Given the description of an element on the screen output the (x, y) to click on. 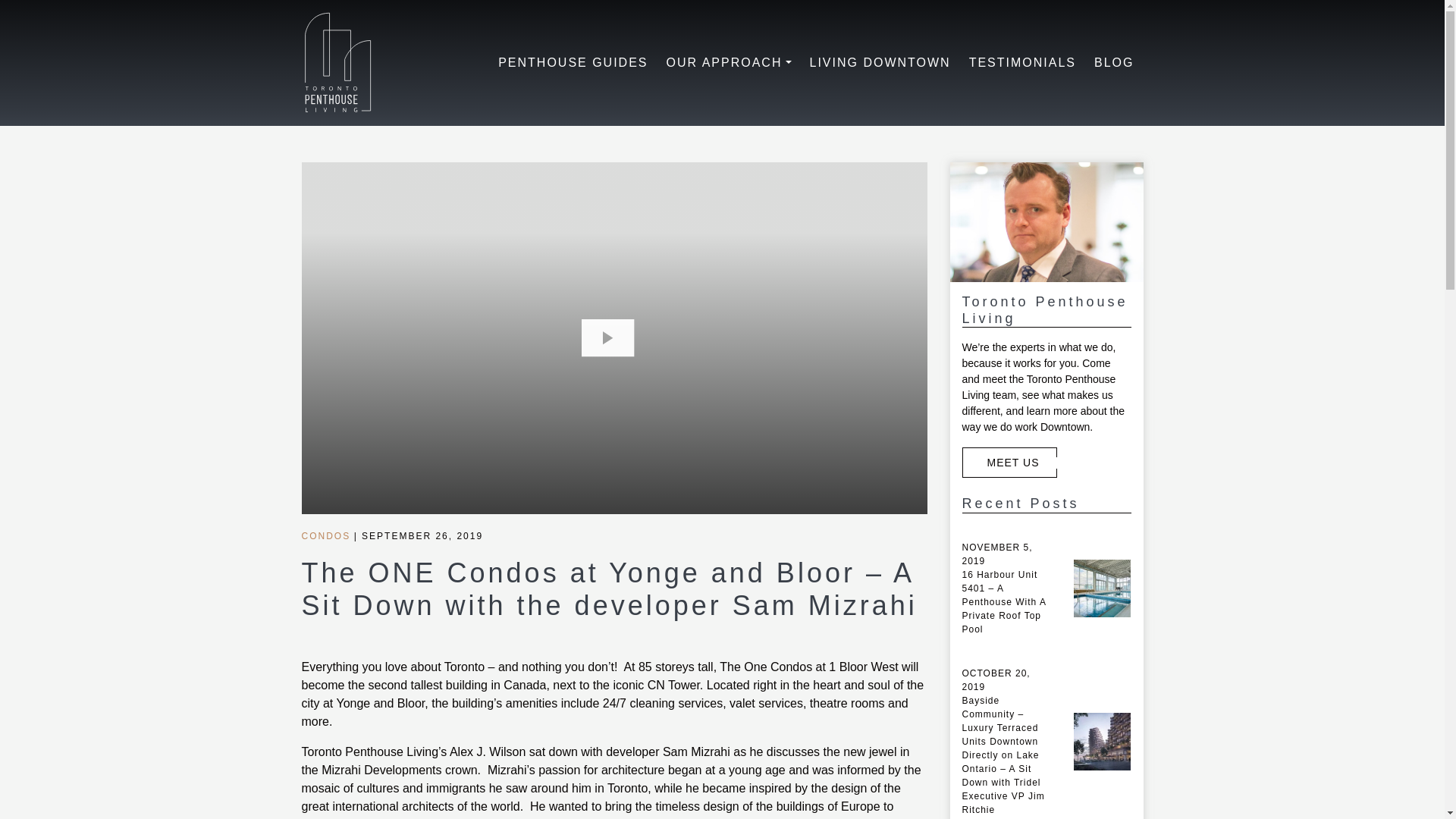
LIVING DOWNTOWN (879, 62)
Living Downtown (879, 62)
BLOG (1113, 62)
TESTIMONIALS (1021, 62)
Penthouse Guides (572, 62)
Testimonials (1021, 62)
CONDOS (325, 535)
Blog (1113, 62)
Our Approach (729, 62)
MEET US (1008, 462)
